Given the description of an element on the screen output the (x, y) to click on. 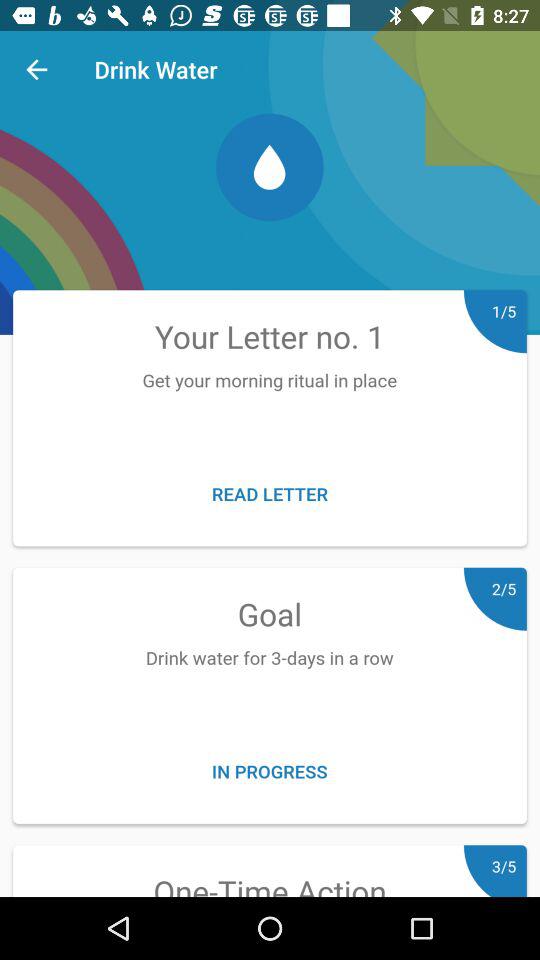
flip to the read letter icon (269, 493)
